Given the description of an element on the screen output the (x, y) to click on. 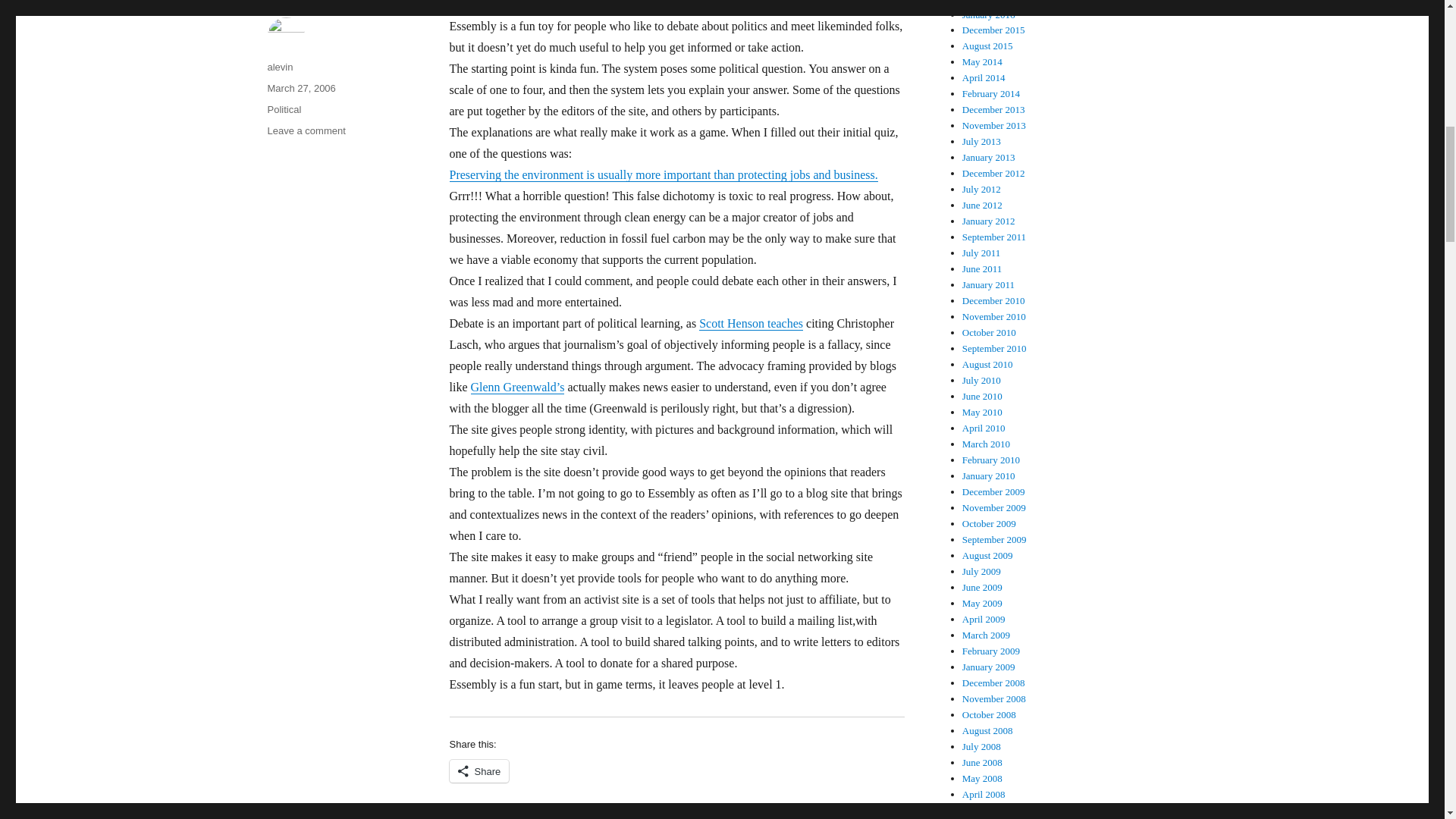
Share (478, 771)
Scott Henson teaches (750, 323)
March 27, 2006 (300, 88)
alevin (279, 66)
Political (305, 130)
